Given the description of an element on the screen output the (x, y) to click on. 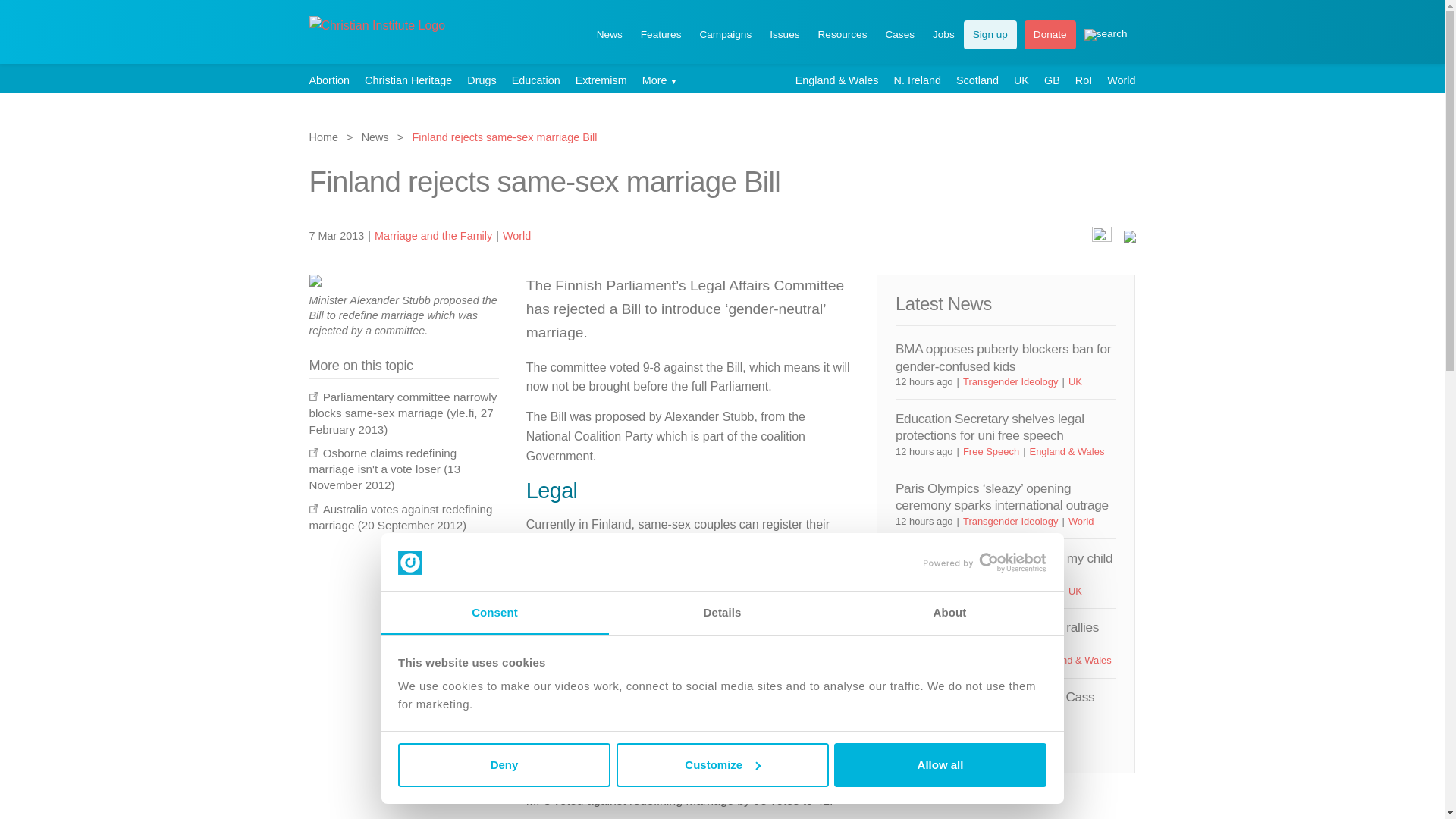
Consent (494, 613)
Details (721, 613)
Share this on Facebook (1102, 235)
About (948, 613)
